Given the description of an element on the screen output the (x, y) to click on. 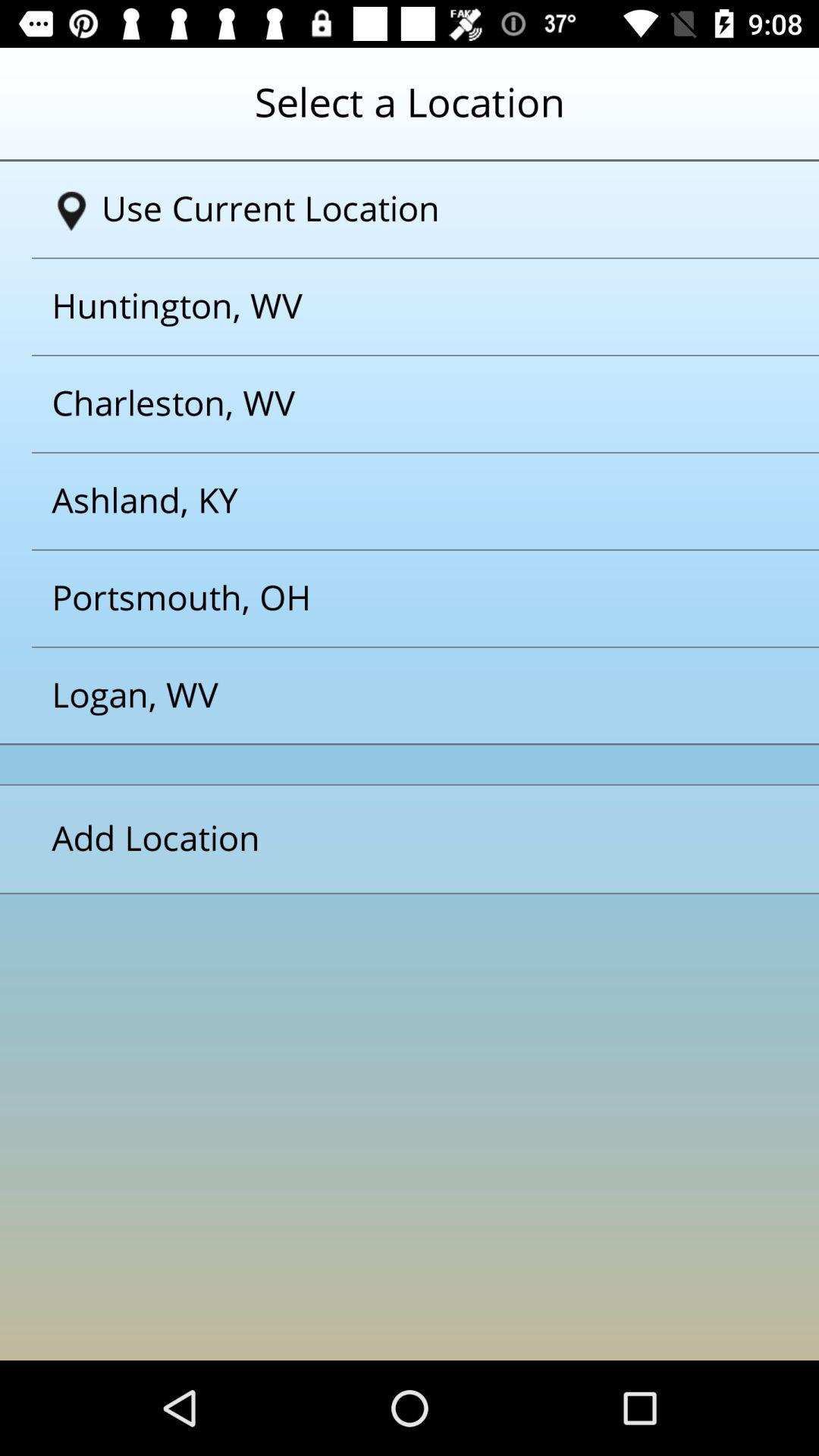
select the option below the ashlandky (390, 598)
click on the text next to charleston wv (390, 501)
choose text use current location (415, 209)
option above add location (390, 695)
click on location icon (71, 211)
